Given the description of an element on the screen output the (x, y) to click on. 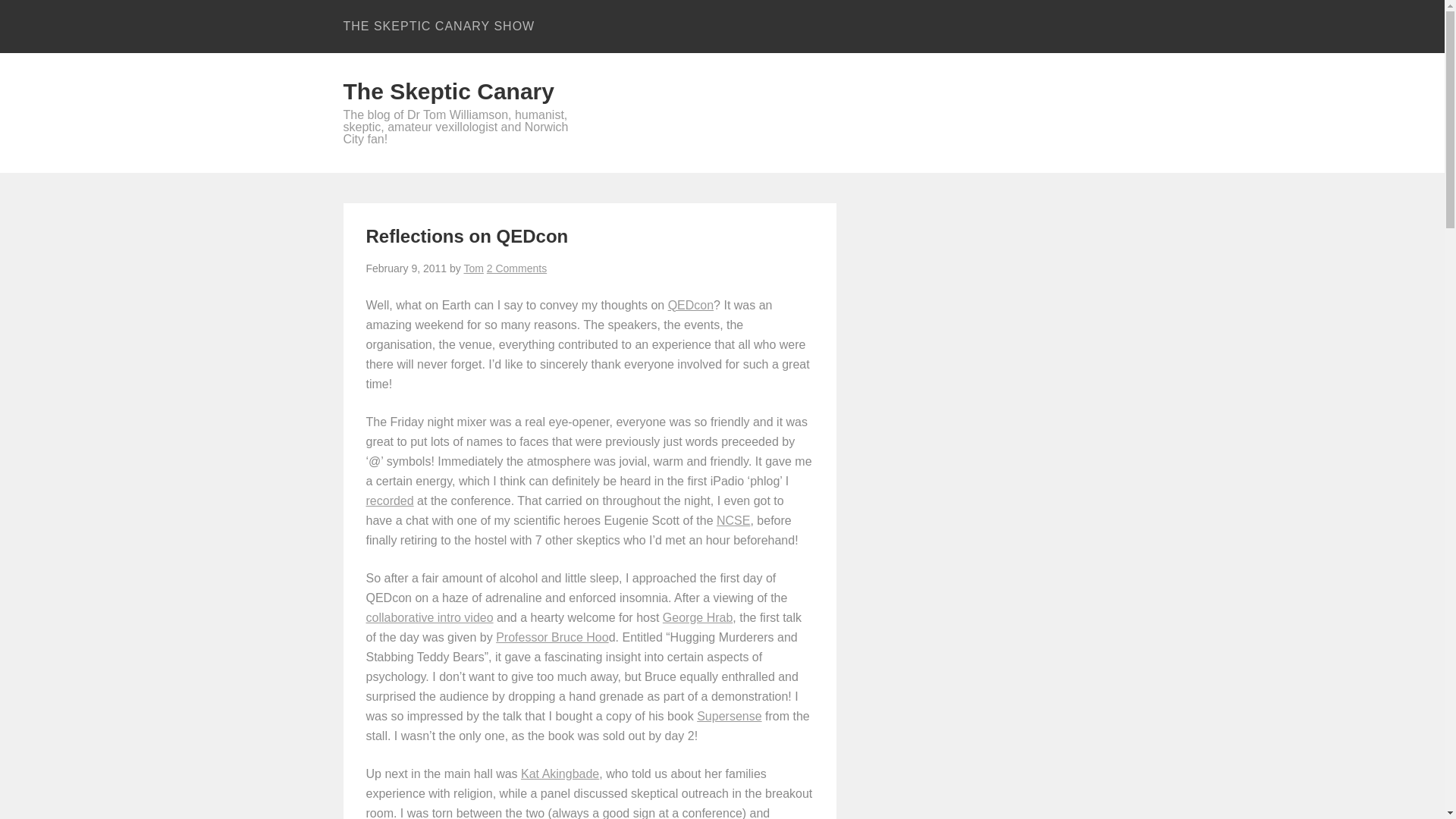
collaborative intro video (429, 617)
George Hrab (697, 617)
Kat Akingbade (559, 773)
George Hrab (697, 617)
Professor Bruce Hoo (552, 636)
recorded (389, 500)
THE SKEPTIC CANARY SHOW (438, 26)
Posts by Tom (473, 268)
National Centre for Science Education (732, 520)
2 Comments (516, 268)
Bruce Hood Supersense (729, 716)
QEDcon intro video (429, 617)
QEDcon (690, 305)
iPadio Friday night (389, 500)
Bruce Hood (552, 636)
